Given the description of an element on the screen output the (x, y) to click on. 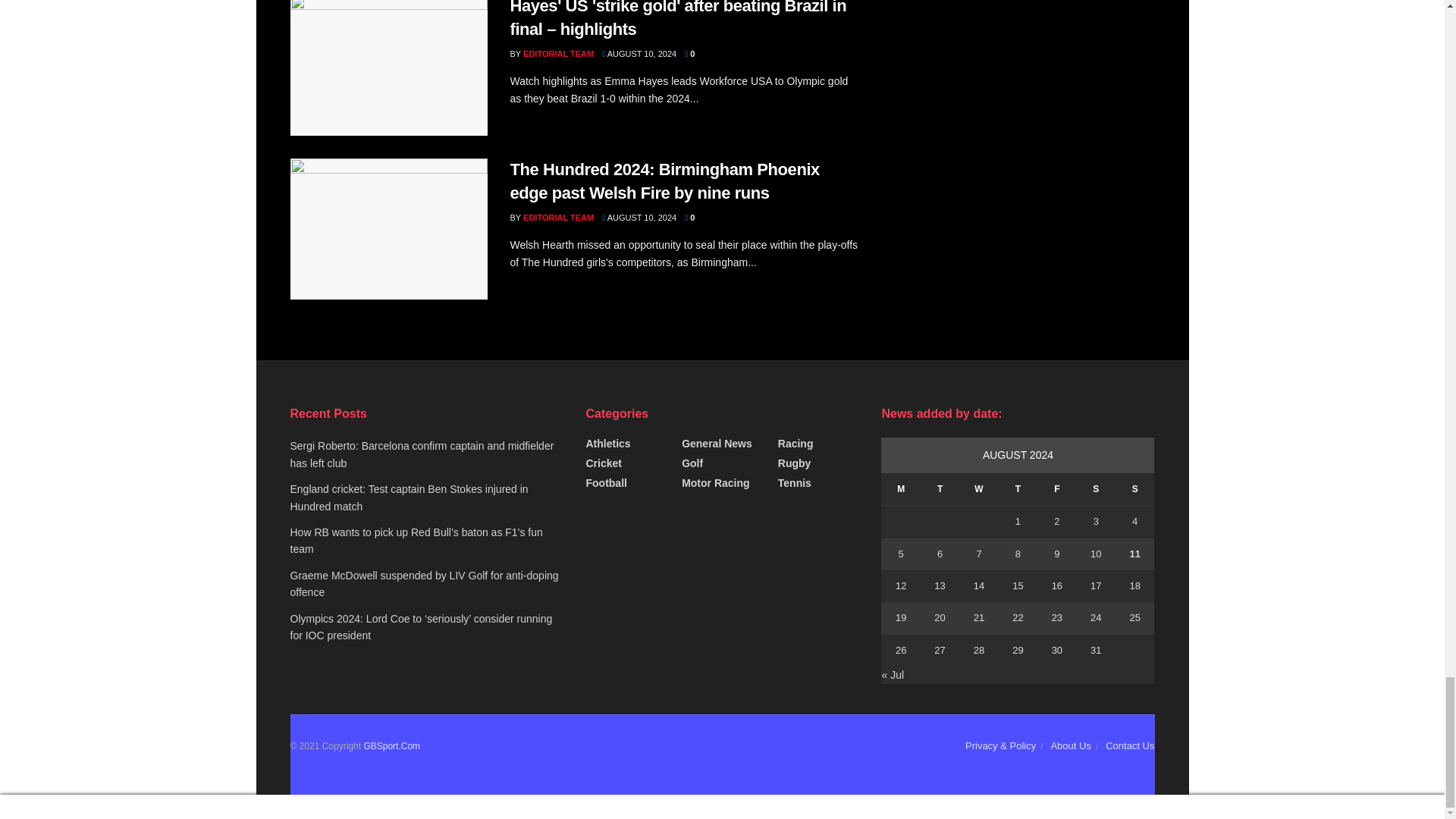
Tuesday (939, 489)
Saturday (1096, 489)
Monday (900, 489)
Friday (1055, 489)
Thursday (1017, 489)
Wednesday (978, 489)
Sunday (1134, 489)
